Given the description of an element on the screen output the (x, y) to click on. 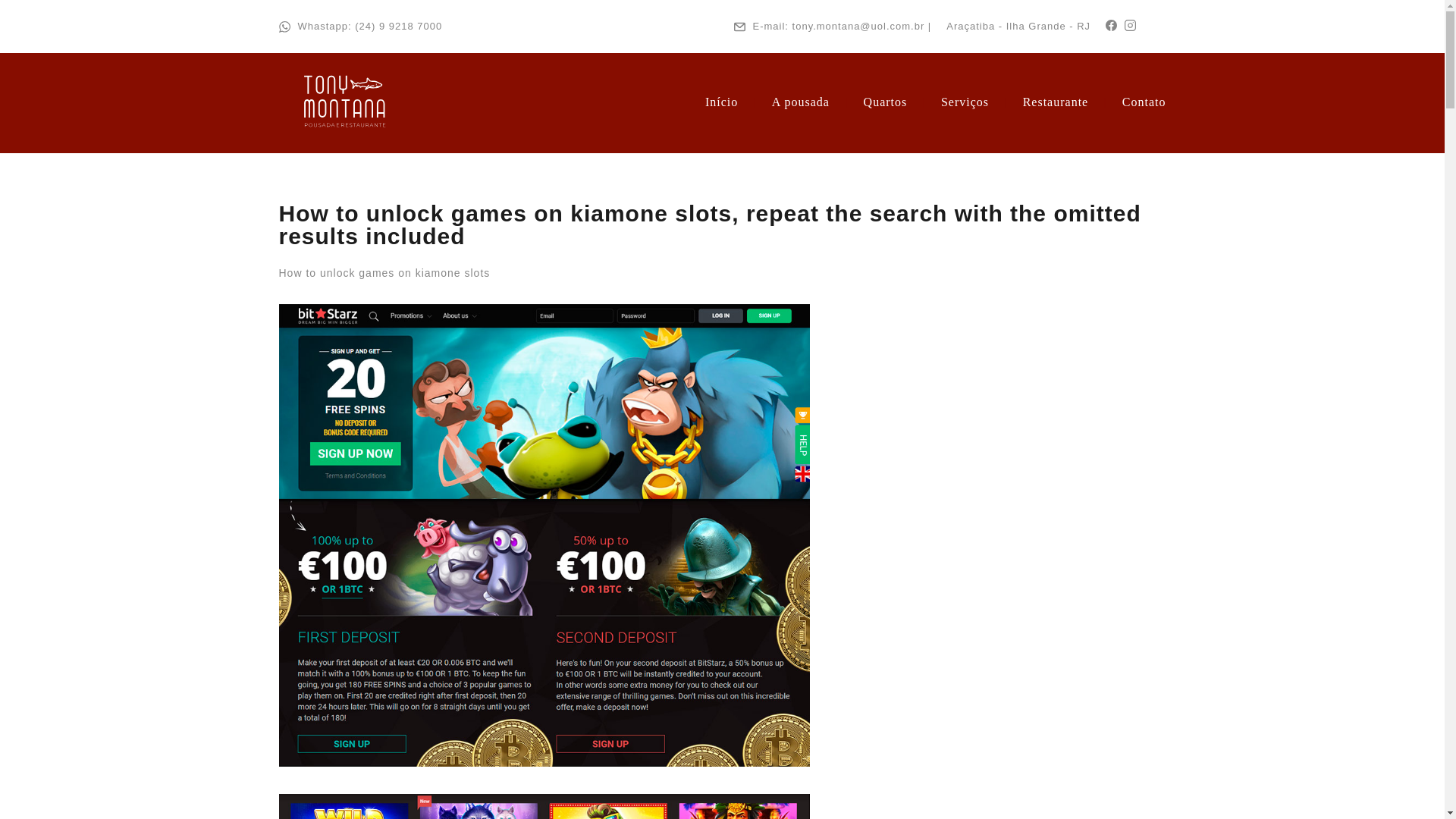
How to unlock games on kiamone slots (544, 806)
Quartos (885, 101)
Contato (1144, 101)
A pousada (800, 101)
Restaurante (1056, 101)
How to unlock games on kiamone slots (384, 272)
